Given the description of an element on the screen output the (x, y) to click on. 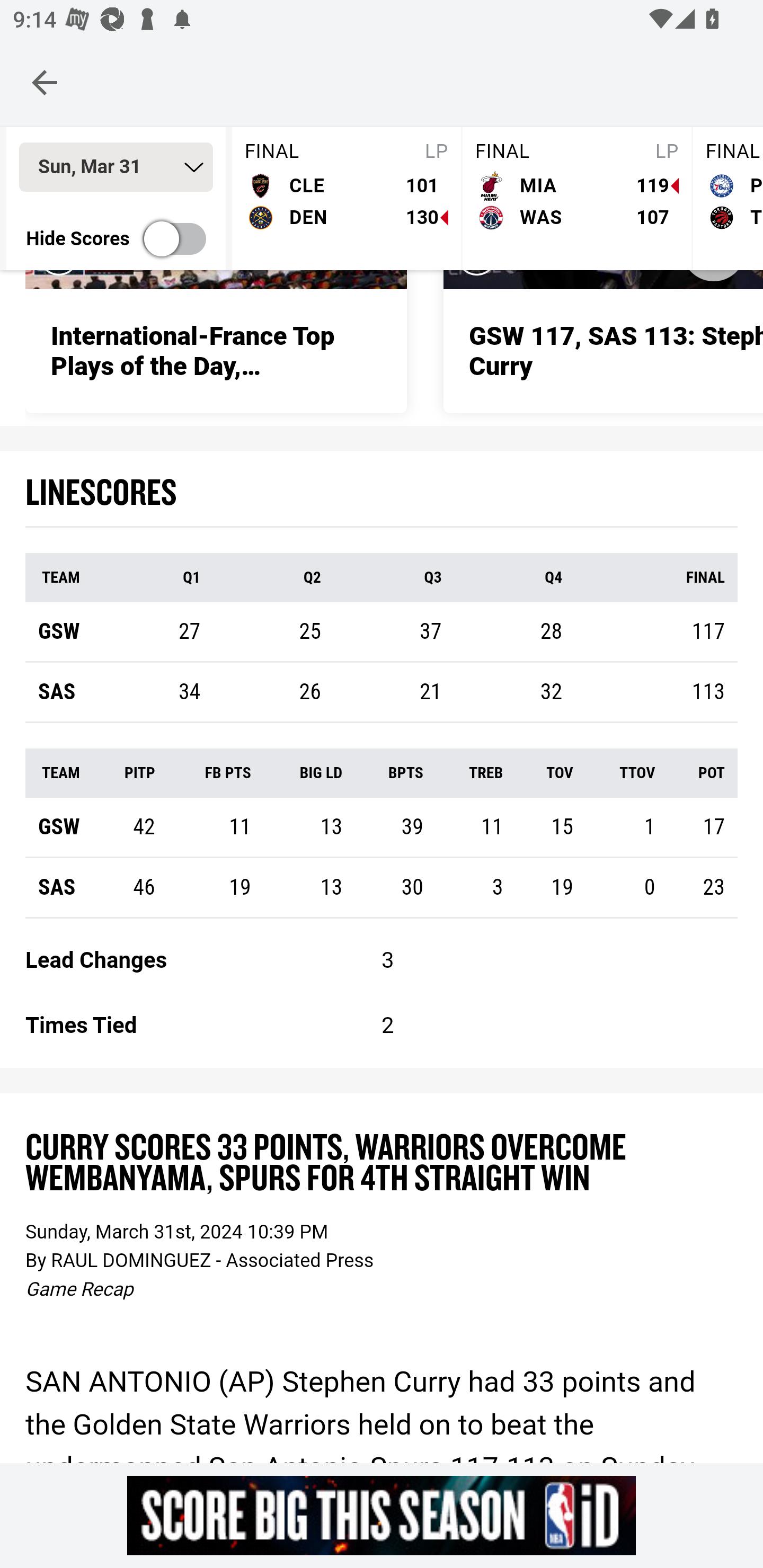
Navigate up (44, 82)
g5nqqygr7owph (381, 1515)
